Given the description of an element on the screen output the (x, y) to click on. 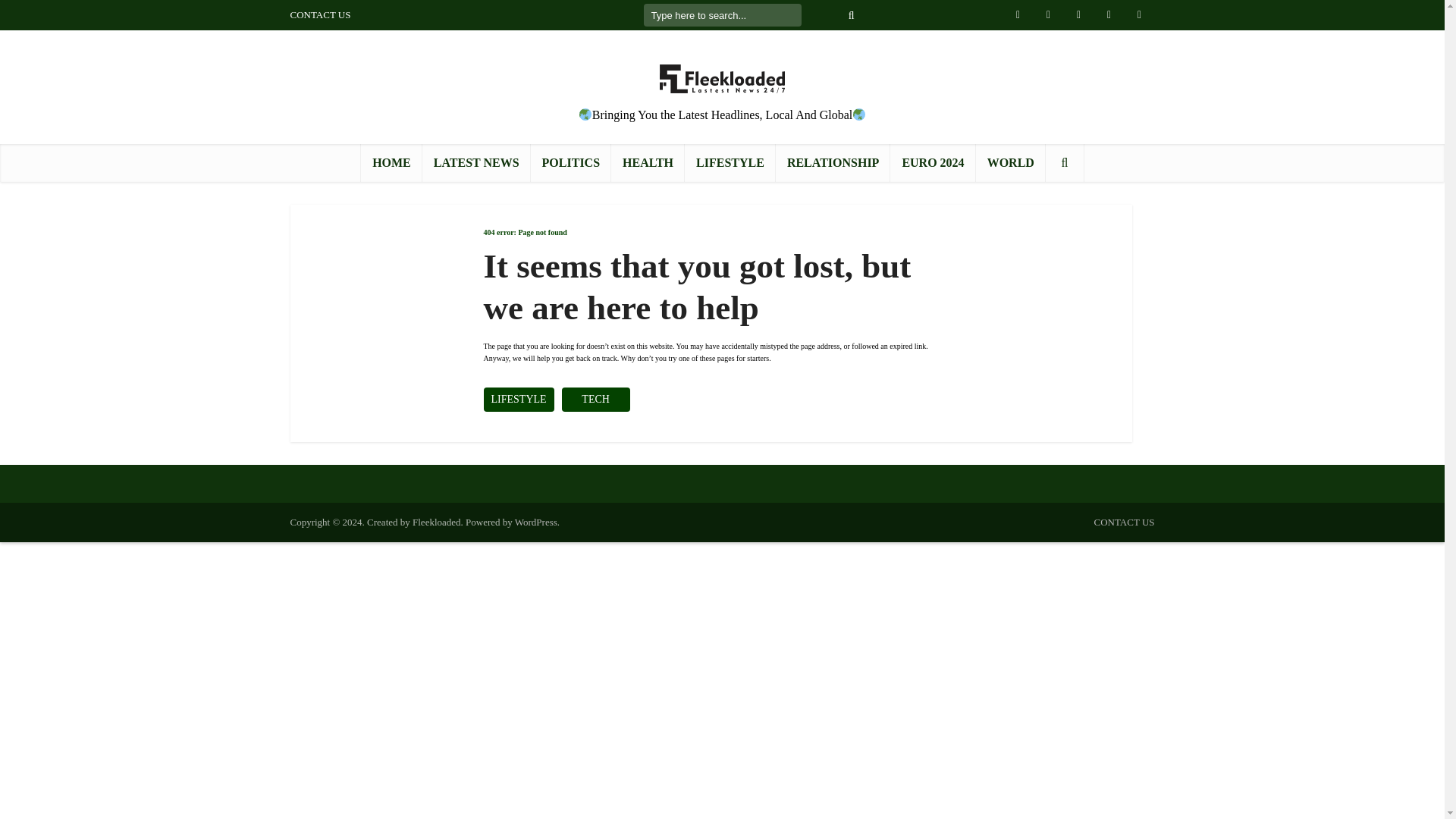
Type here to search... (721, 15)
POLITICS (571, 162)
LIFESTYLE (730, 162)
CONTACT US (1124, 521)
HOME (391, 162)
EURO 2024 (932, 162)
LIFESTYLE (518, 399)
WORLD (1010, 162)
CONTACT US (319, 14)
Type here to search... (721, 15)
HEALTH (647, 162)
WordPress (536, 521)
LATEST NEWS (476, 162)
TECH (596, 399)
RELATIONSHIP (833, 162)
